Given the description of an element on the screen output the (x, y) to click on. 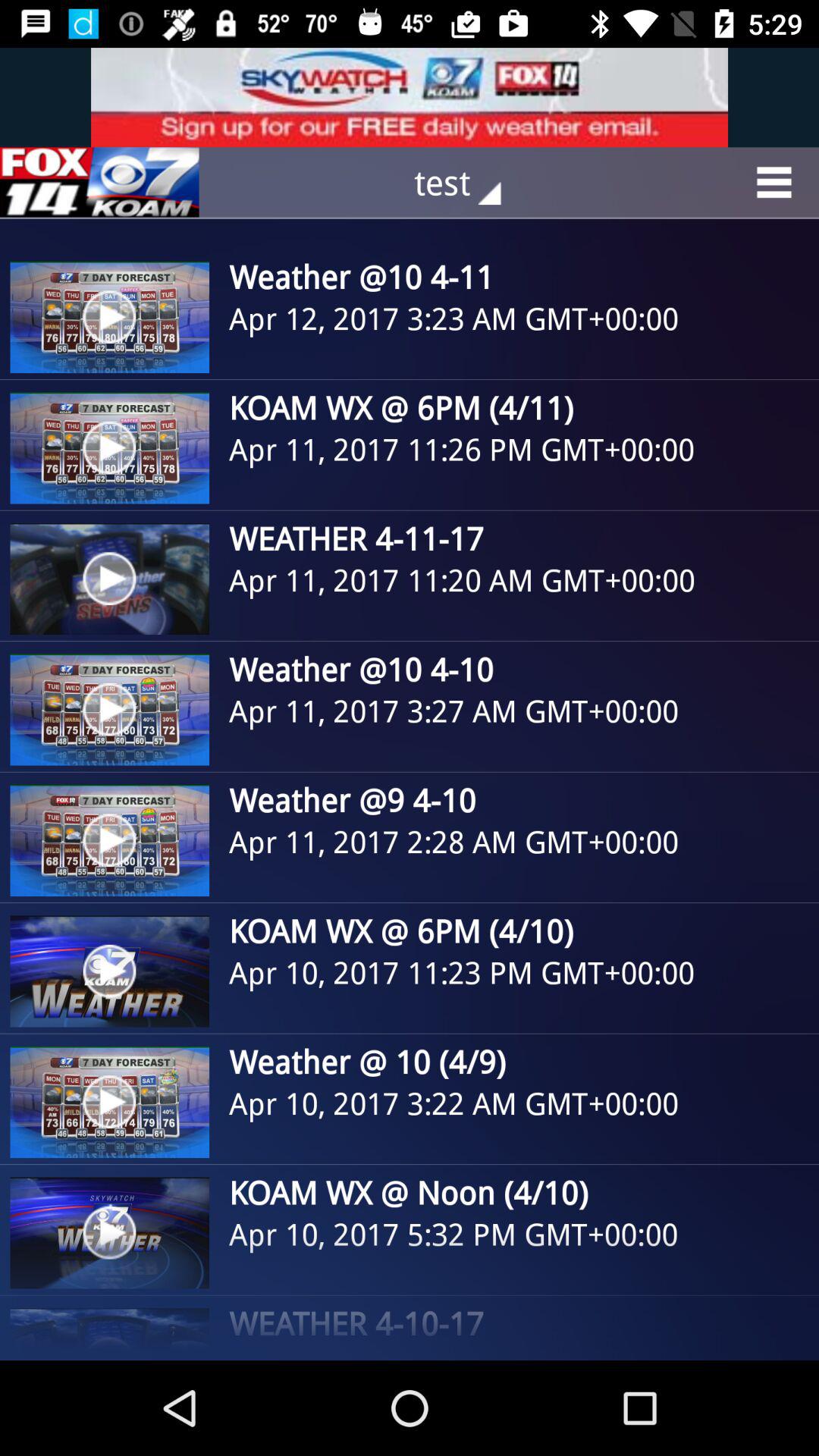
sign up for email list (409, 97)
